Given the description of an element on the screen output the (x, y) to click on. 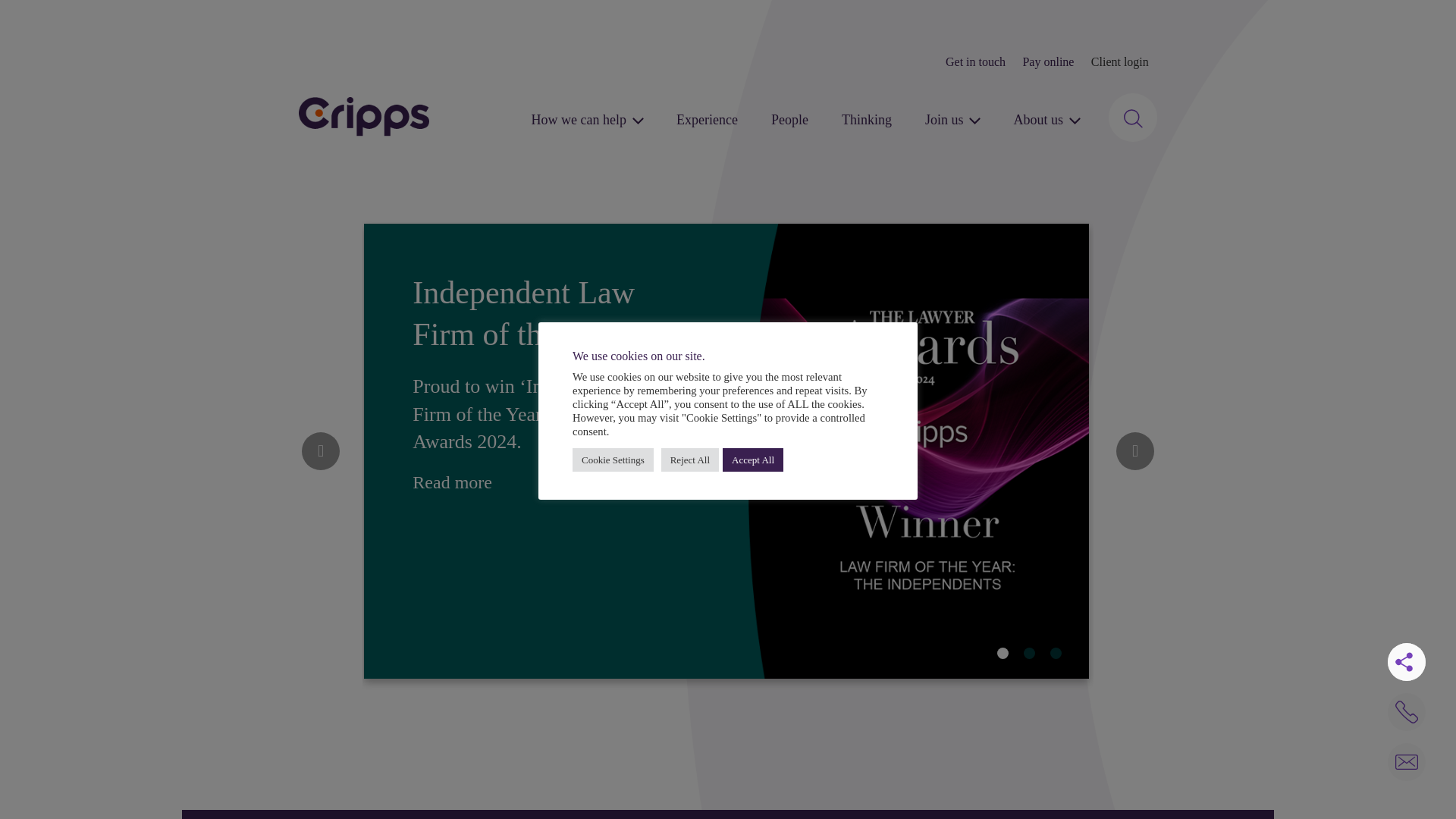
Get in touch (975, 62)
Pay online (1048, 62)
Client login (1119, 62)
